Given the description of an element on the screen output the (x, y) to click on. 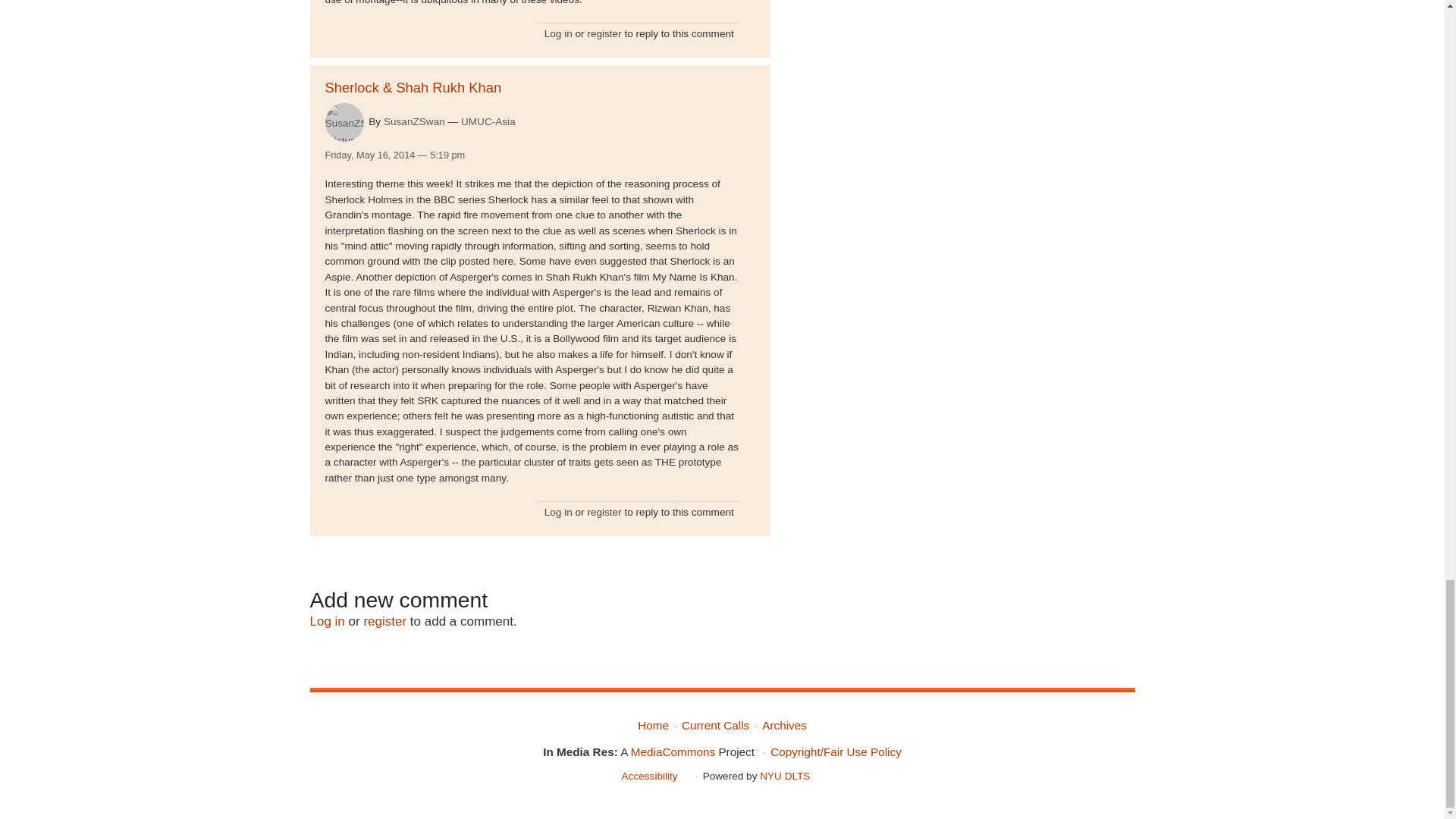
UMUC-Asia (488, 121)
View user profile. (343, 122)
User profile: SusanZSwan (414, 121)
